Given the description of an element on the screen output the (x, y) to click on. 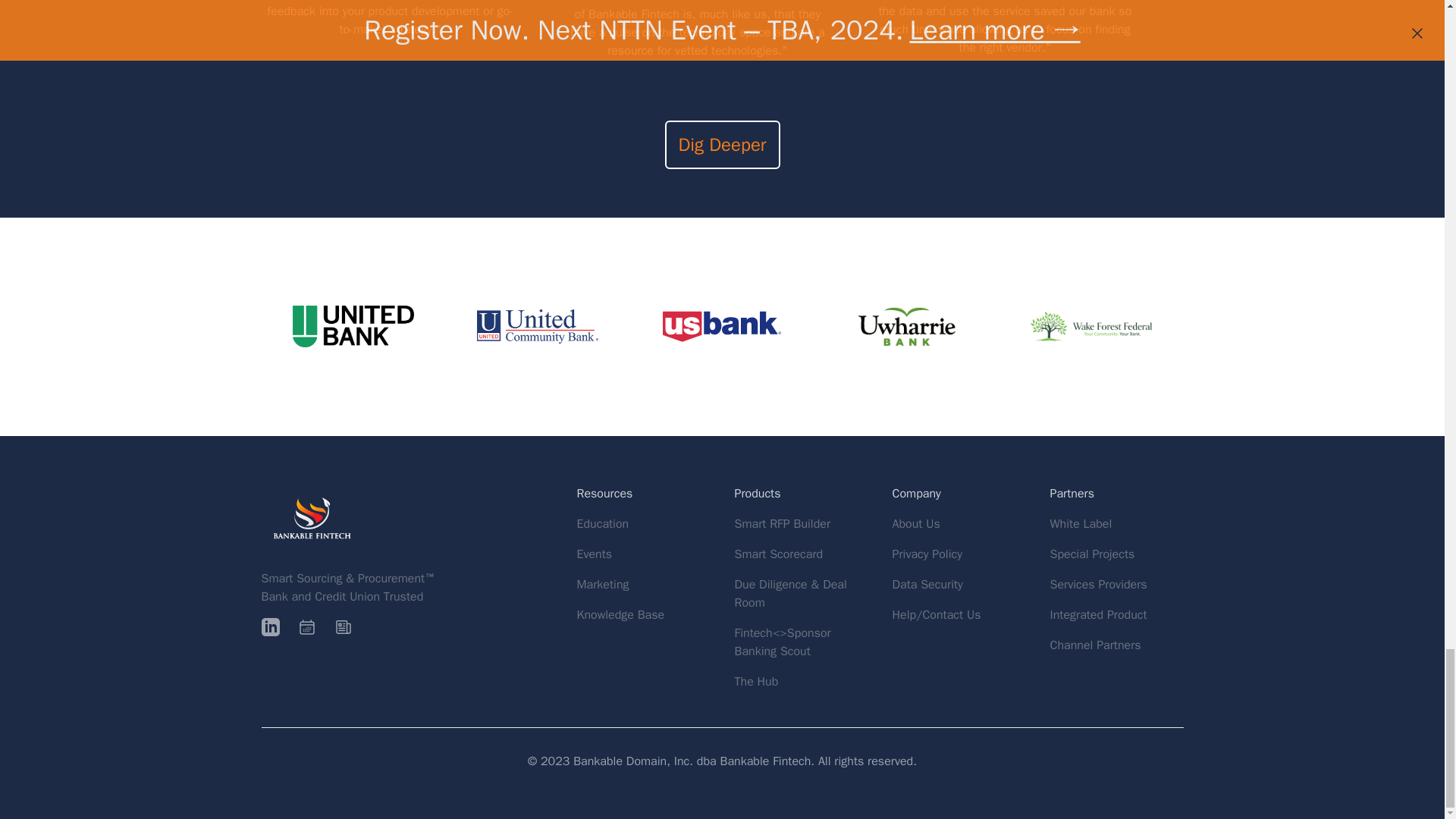
Education (602, 523)
LinkedIn (269, 627)
Events (593, 554)
Integrated Product (1098, 615)
White Label (1080, 524)
Services Providers (1098, 584)
The Hub (755, 681)
Privacy Policy (925, 554)
About Us (915, 523)
Knowledge Base (619, 614)
Dig Deeper (720, 144)
Special Projects (1091, 554)
NTTN (306, 627)
Smart RFP Builder (781, 524)
Marketing (602, 584)
